Given the description of an element on the screen output the (x, y) to click on. 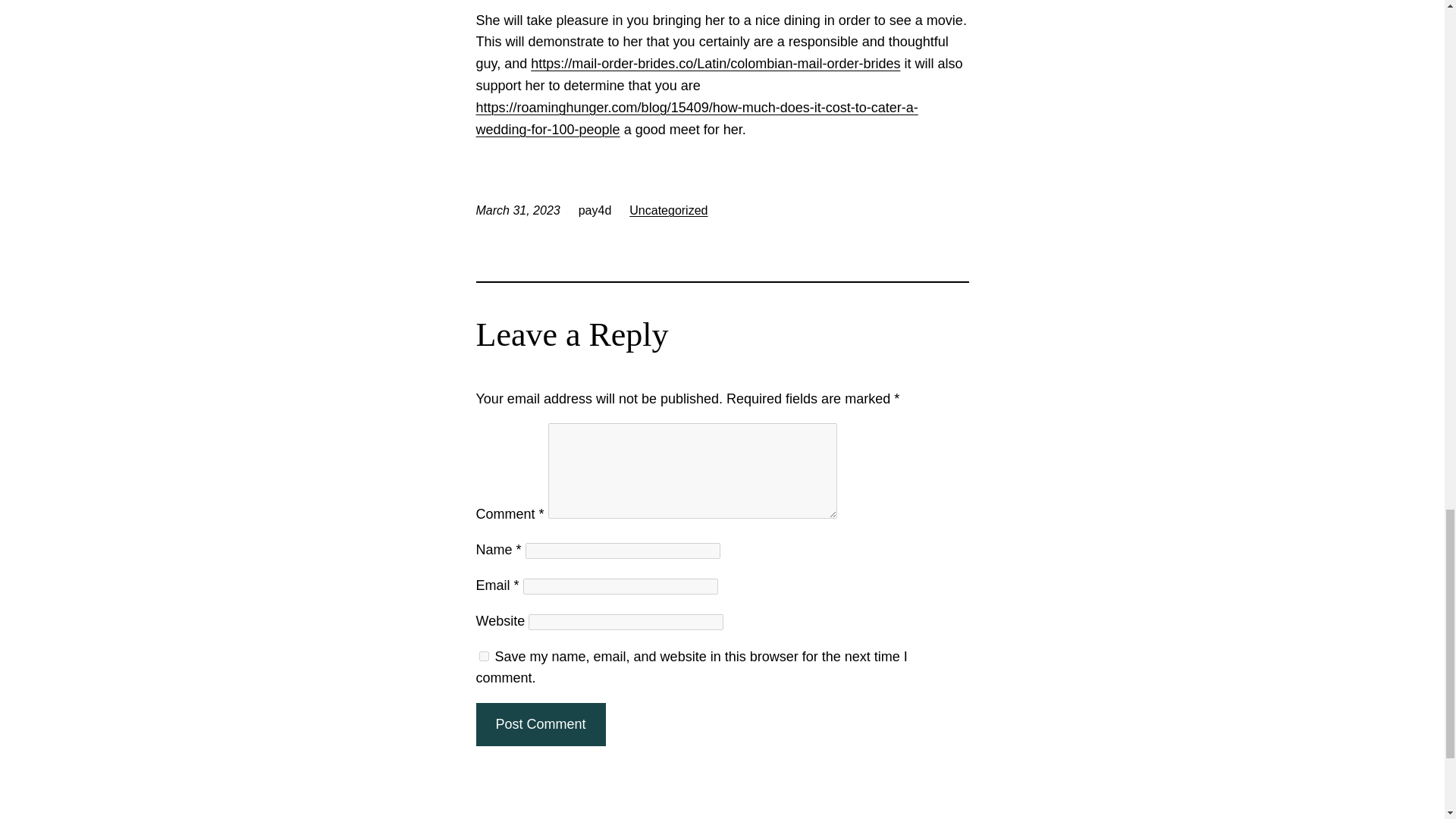
Uncategorized (667, 210)
yes (484, 655)
Post Comment (540, 724)
Post Comment (540, 724)
